Given the description of an element on the screen output the (x, y) to click on. 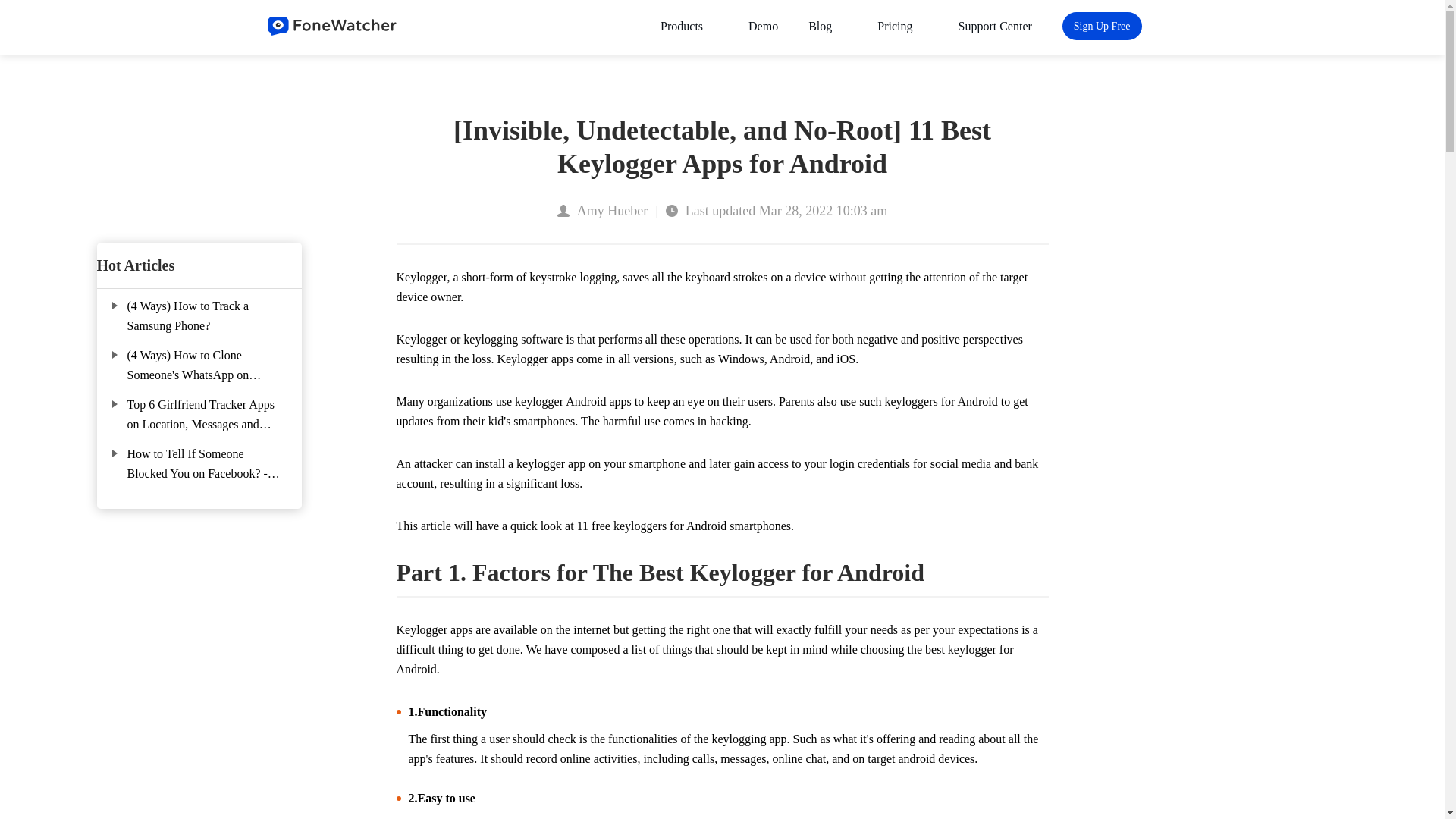
Sign Up Free (1101, 26)
Pricing (902, 25)
Demo (762, 25)
Blog (827, 25)
Support Center (995, 25)
Products (689, 25)
